Given the description of an element on the screen output the (x, y) to click on. 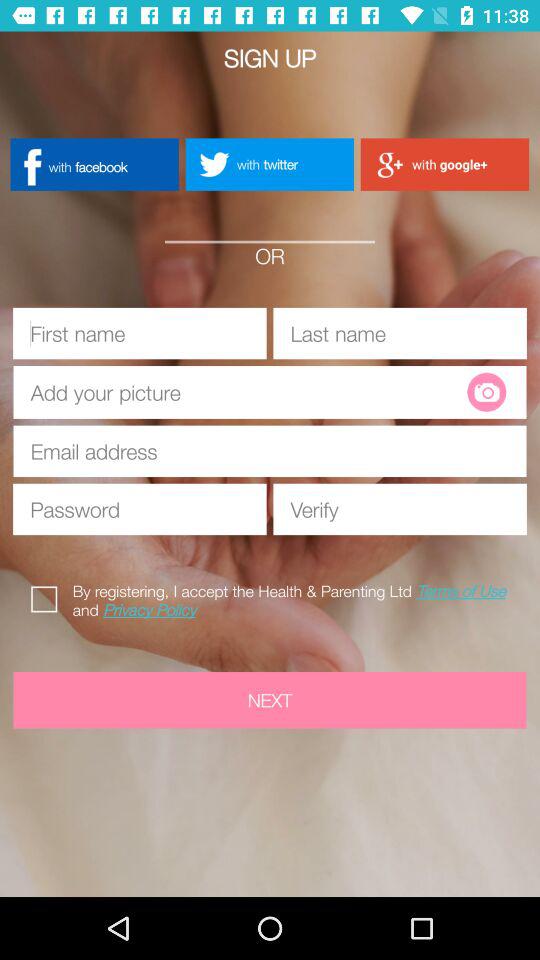
click the icon above the next icon (48, 596)
